Given the description of an element on the screen output the (x, y) to click on. 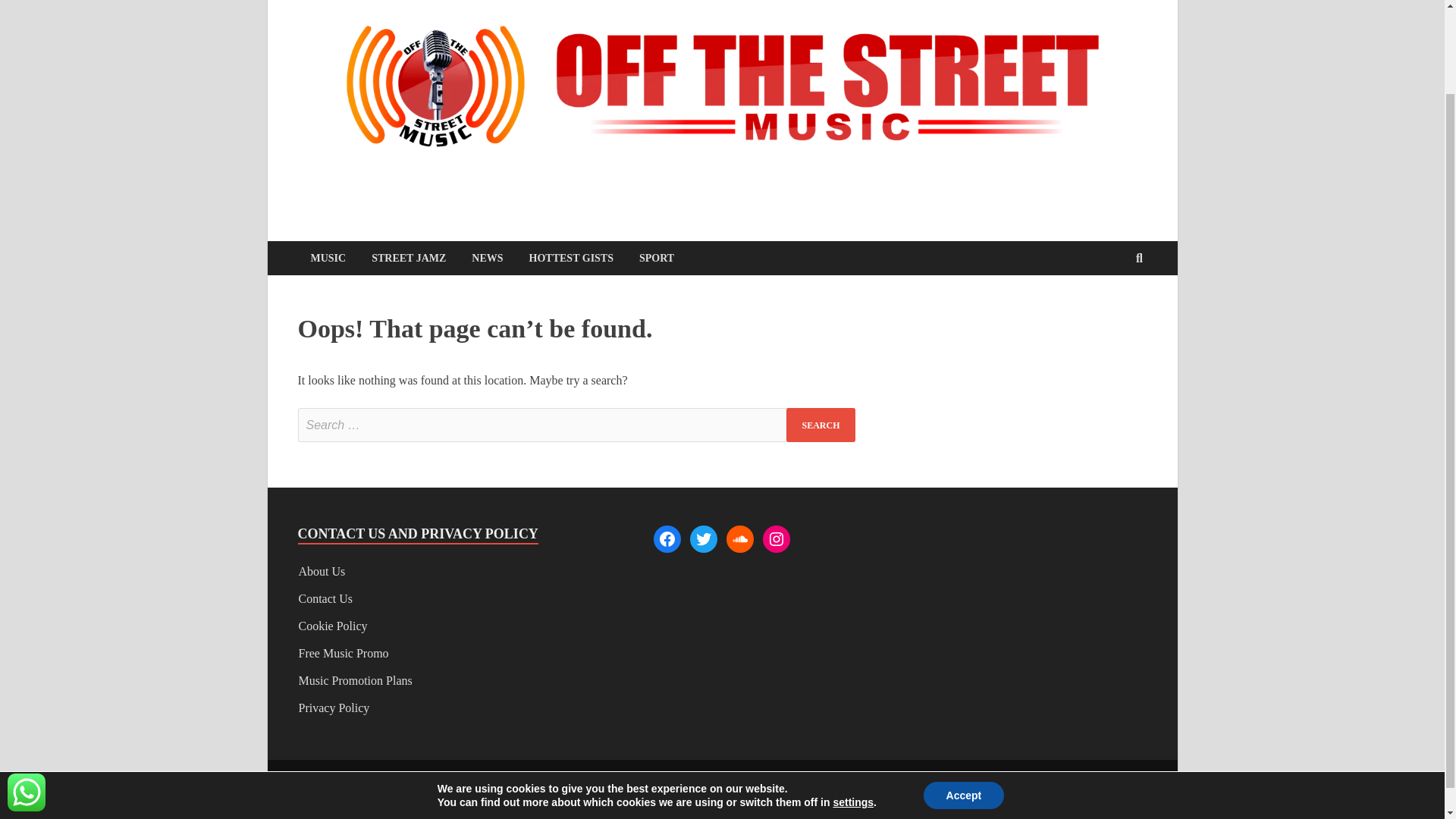
NEWS (486, 257)
Follow us on Twitter (1094, 782)
Cookie Policy (333, 625)
STREET JAMZ (408, 257)
Music Promotion Plans (355, 680)
MUSIC (327, 257)
Contact Us (325, 598)
SPORT (656, 257)
About Us (322, 571)
Search (820, 424)
